Given the description of an element on the screen output the (x, y) to click on. 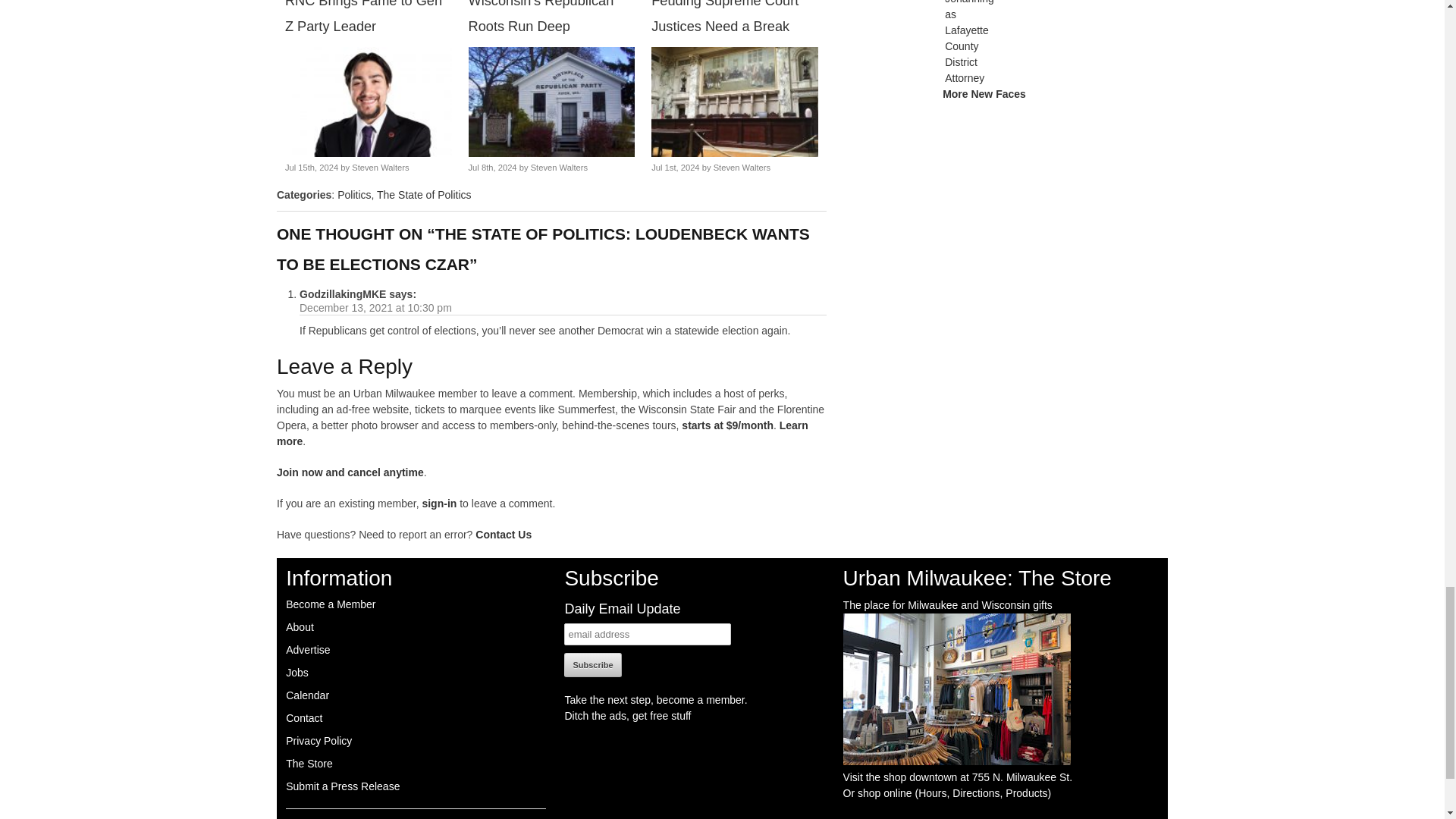
Politics (354, 194)
The State of Politics (424, 194)
Subscribe (592, 664)
